Given the description of an element on the screen output the (x, y) to click on. 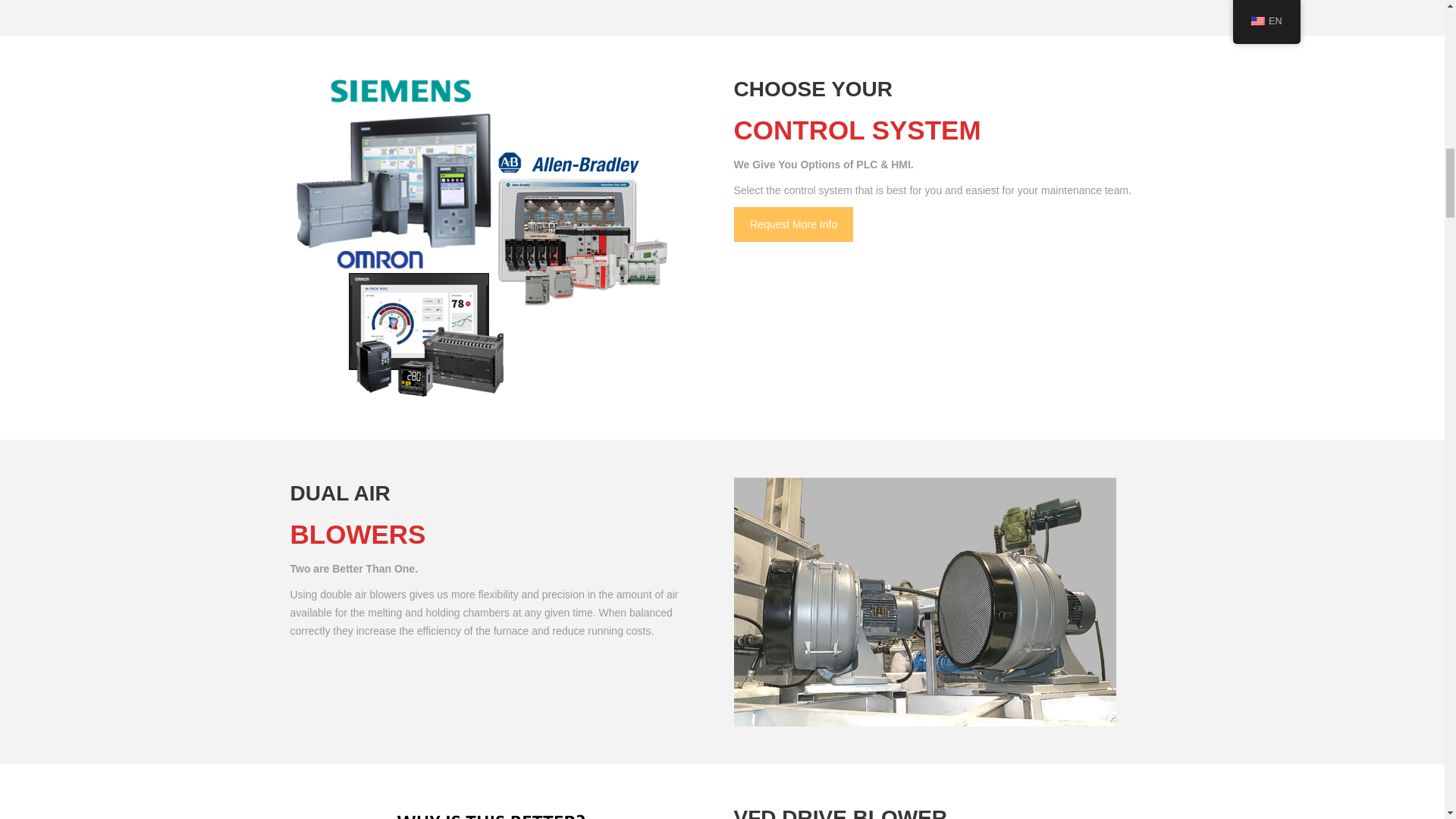
VFD Drive Inverter Duty Motors (480, 810)
Request More Info (793, 224)
Choice of PLC and HMI (478, 237)
Double Blowers - LR (924, 601)
